Given the description of an element on the screen output the (x, y) to click on. 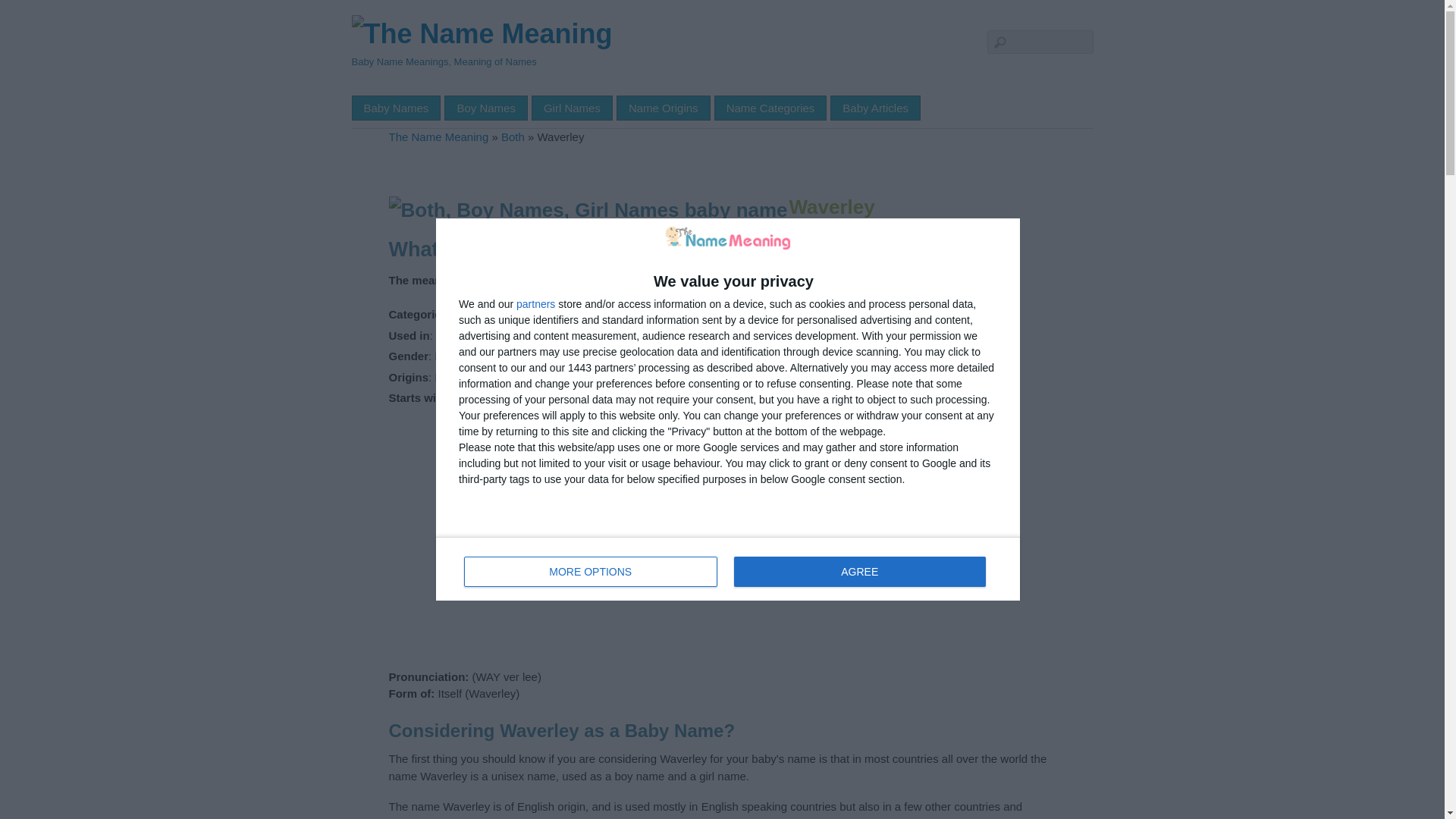
Name Origins (727, 568)
Girl Names (662, 107)
The Name Meaning (557, 355)
English Names (482, 33)
Girl Names (490, 314)
Baby Name Origins, Boy names origin, Girl names origin (571, 107)
Baby Articles (662, 107)
Baby Names (874, 107)
MORE OPTIONS (396, 107)
Waverley (590, 571)
English speaking countries (832, 206)
Baby Name Categories, Boy name category, Girl name category (502, 335)
Baby Boy Names, Boy name meanings (770, 107)
Baby Girl Names, Girl name meanings (485, 107)
